Given the description of an element on the screen output the (x, y) to click on. 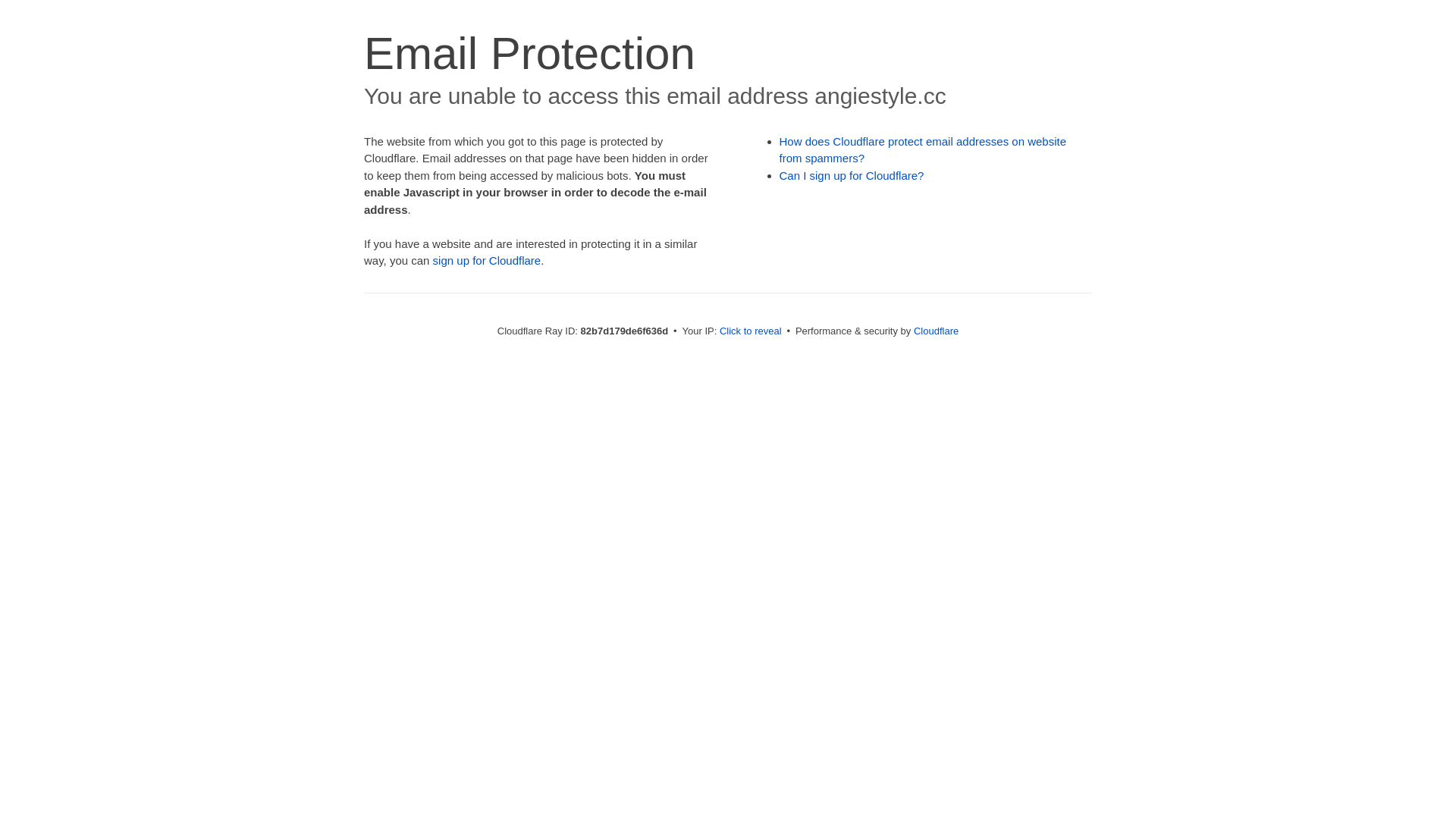
Can I sign up for Cloudflare? Element type: text (851, 175)
Click to reveal Element type: text (750, 330)
Cloudflare Element type: text (935, 330)
sign up for Cloudflare Element type: text (487, 260)
